Given the description of an element on the screen output the (x, y) to click on. 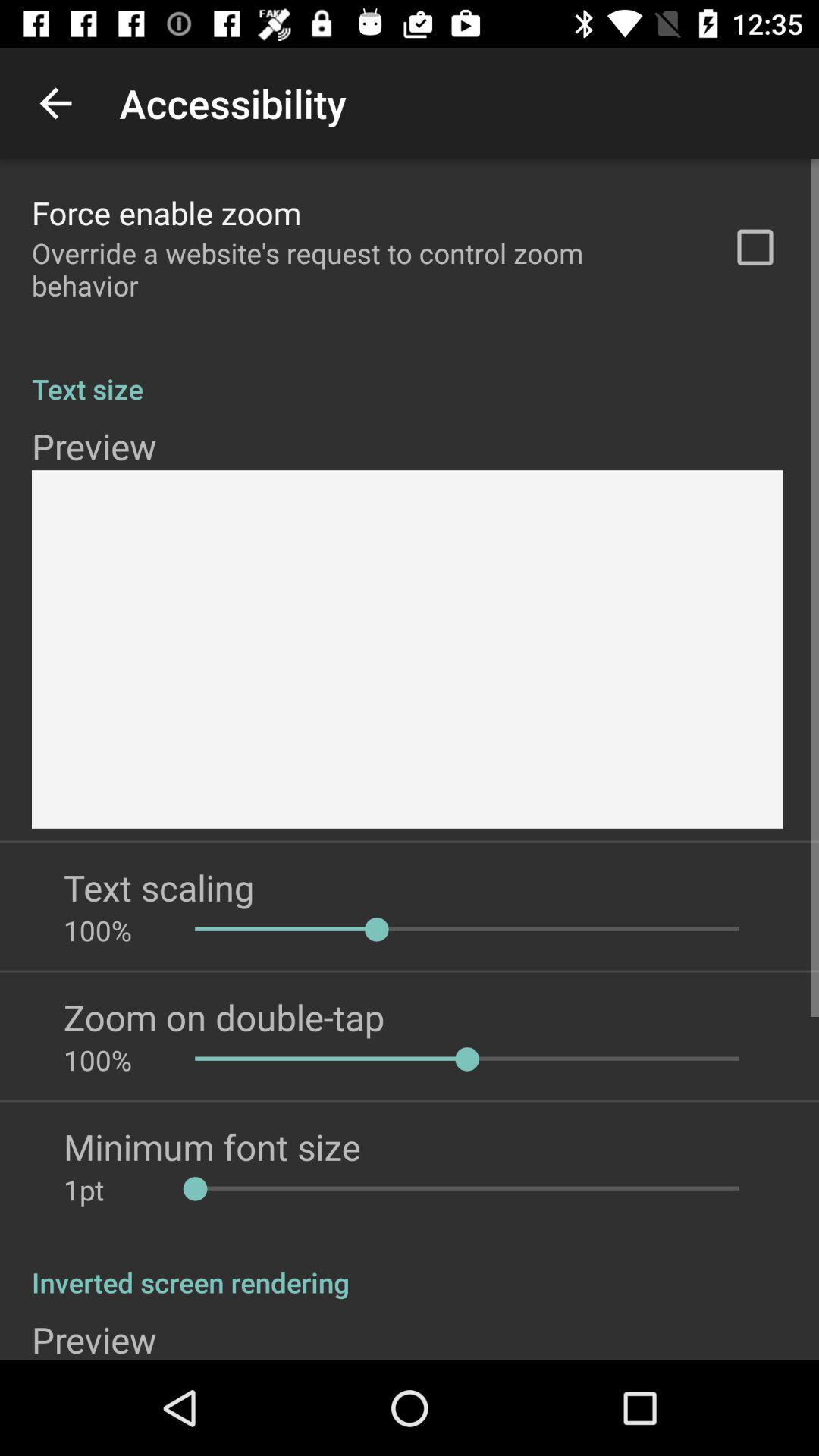
select the item below 1pt app (409, 1266)
